Given the description of an element on the screen output the (x, y) to click on. 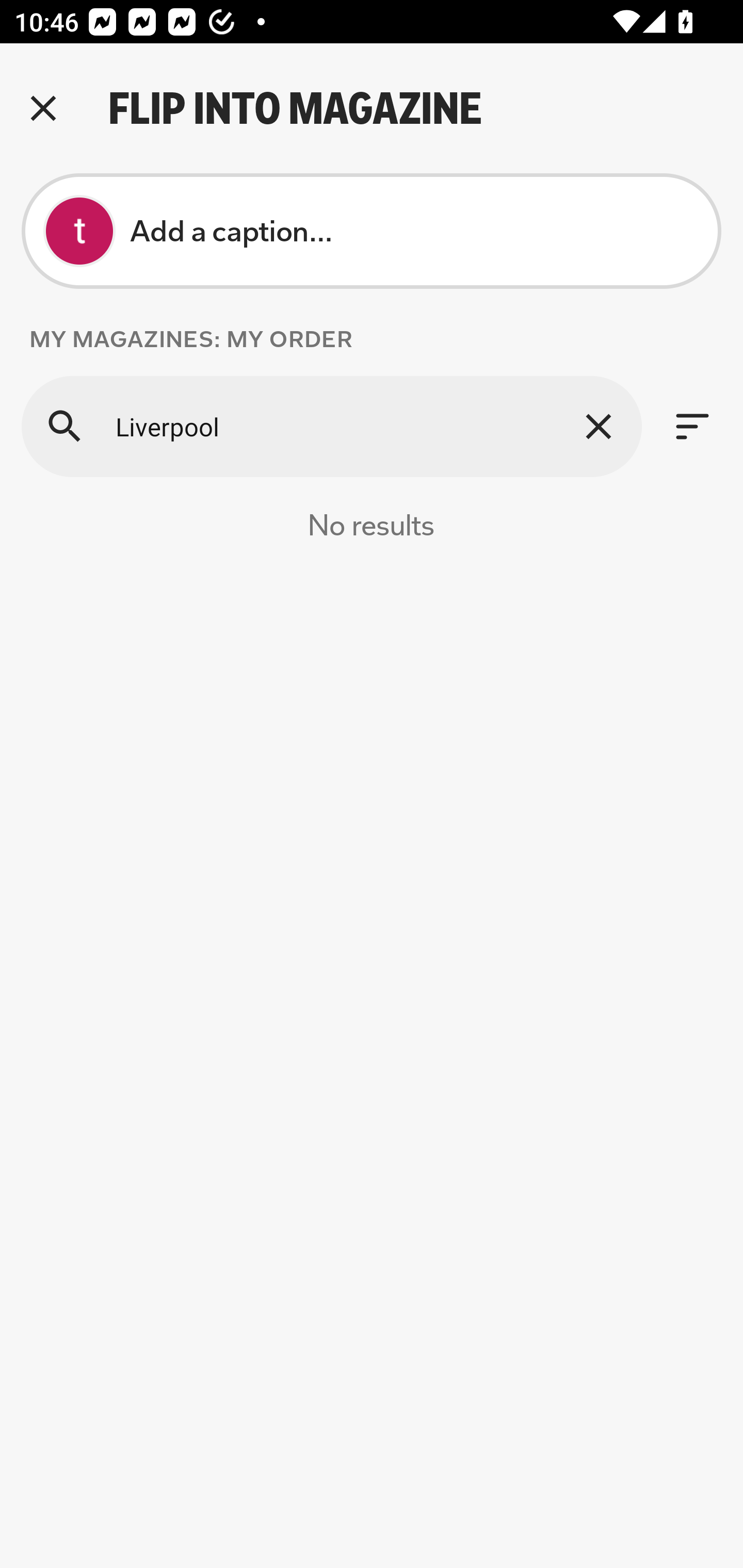
test appium Add a caption… (371, 231)
Liverpool Search (331, 426)
